Given the description of an element on the screen output the (x, y) to click on. 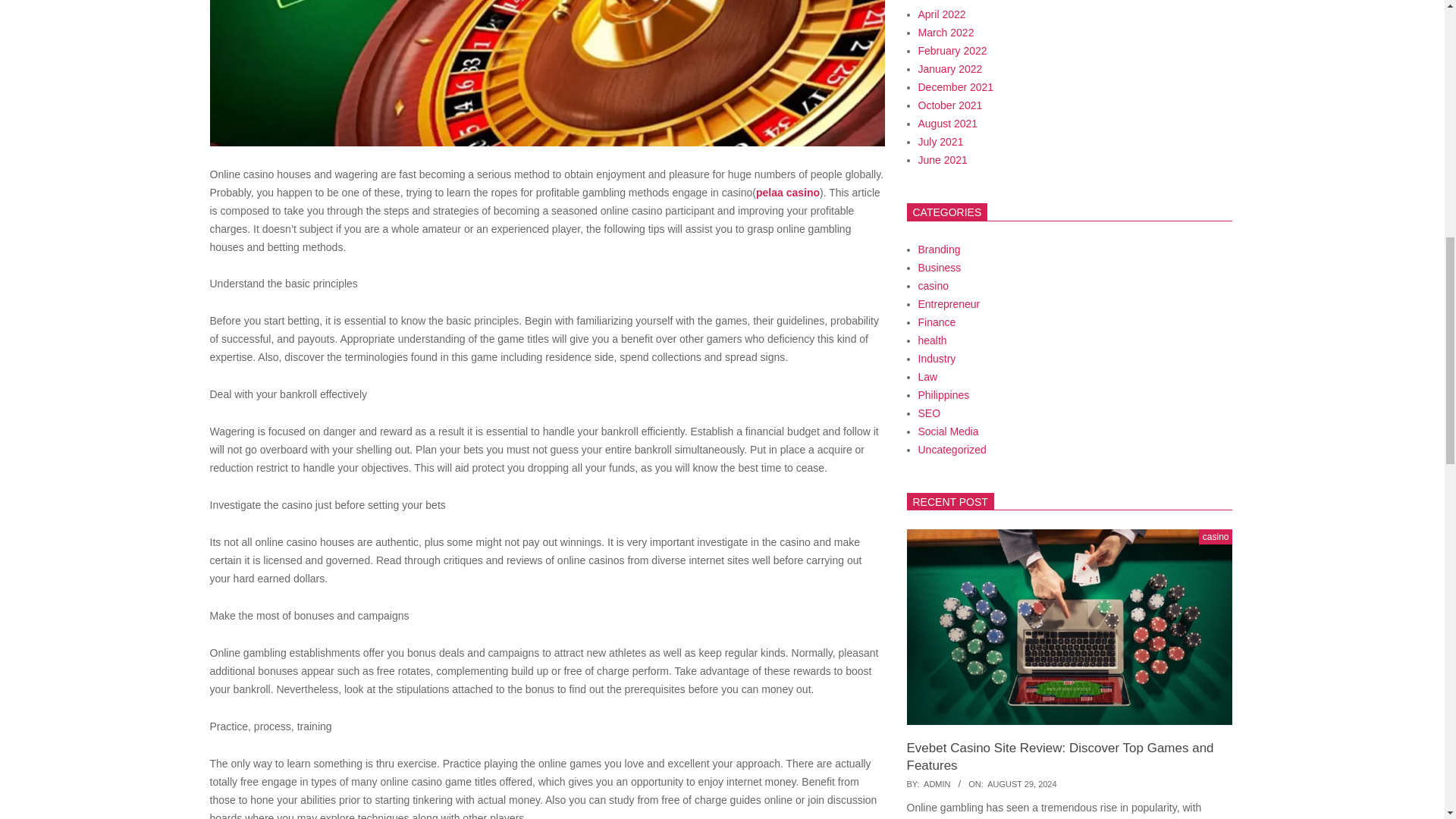
pelaa casino (787, 192)
Thursday, August 29, 2024, 5:42 pm (1022, 783)
Posts by admin (936, 783)
